Given the description of an element on the screen output the (x, y) to click on. 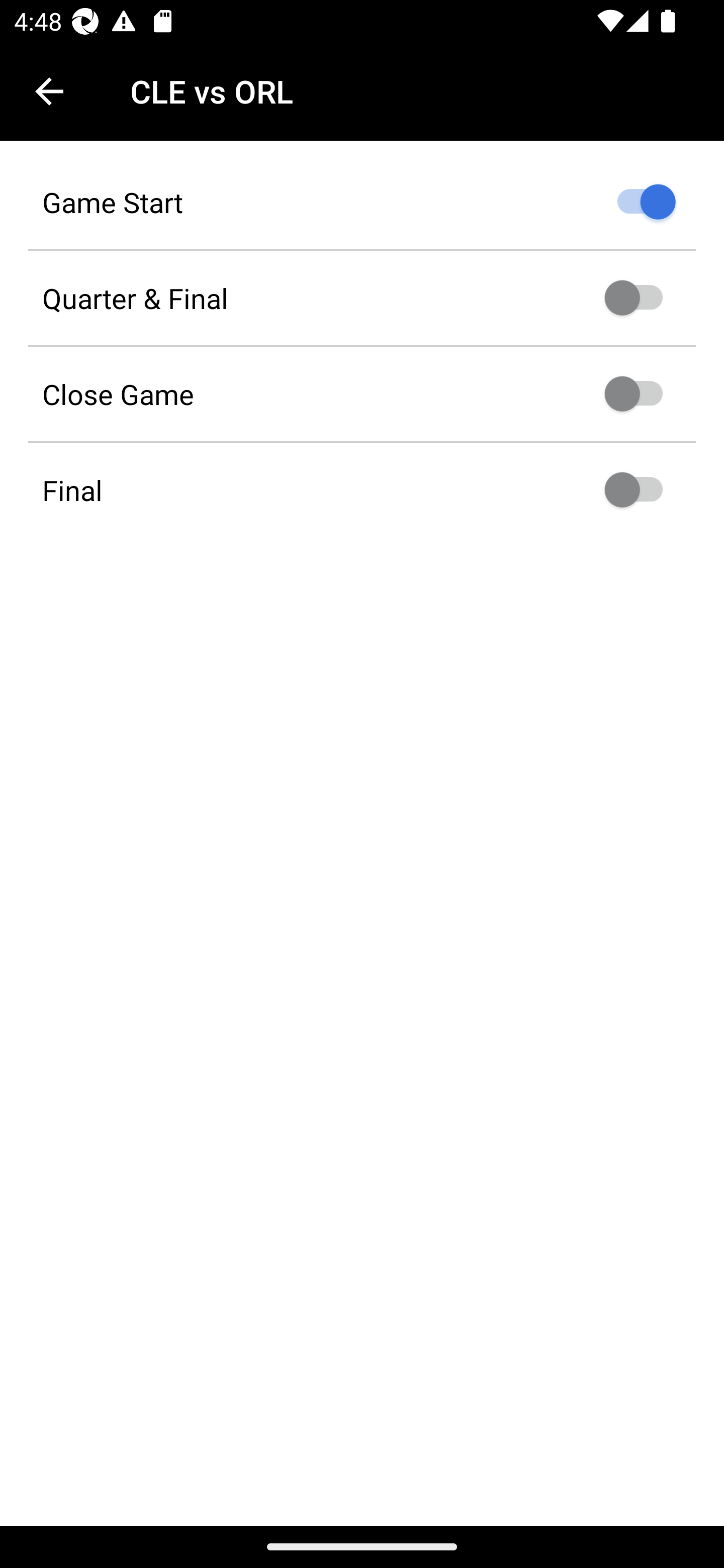
Navigate up (49, 91)
